Given the description of an element on the screen output the (x, y) to click on. 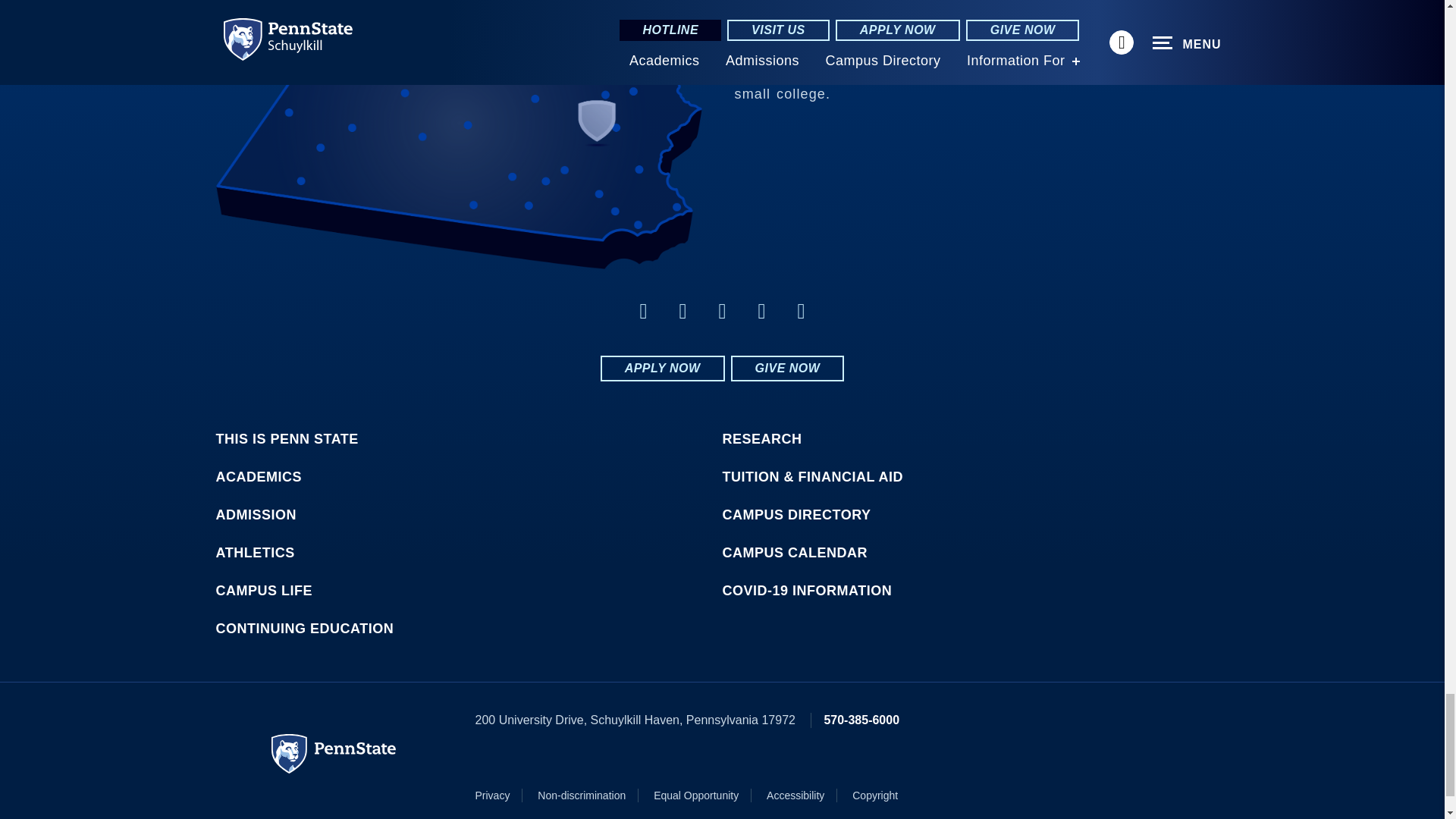
instagram (800, 310)
facebook (642, 310)
youtube (761, 310)
twitter (721, 310)
linkedin (682, 310)
